Given the description of an element on the screen output the (x, y) to click on. 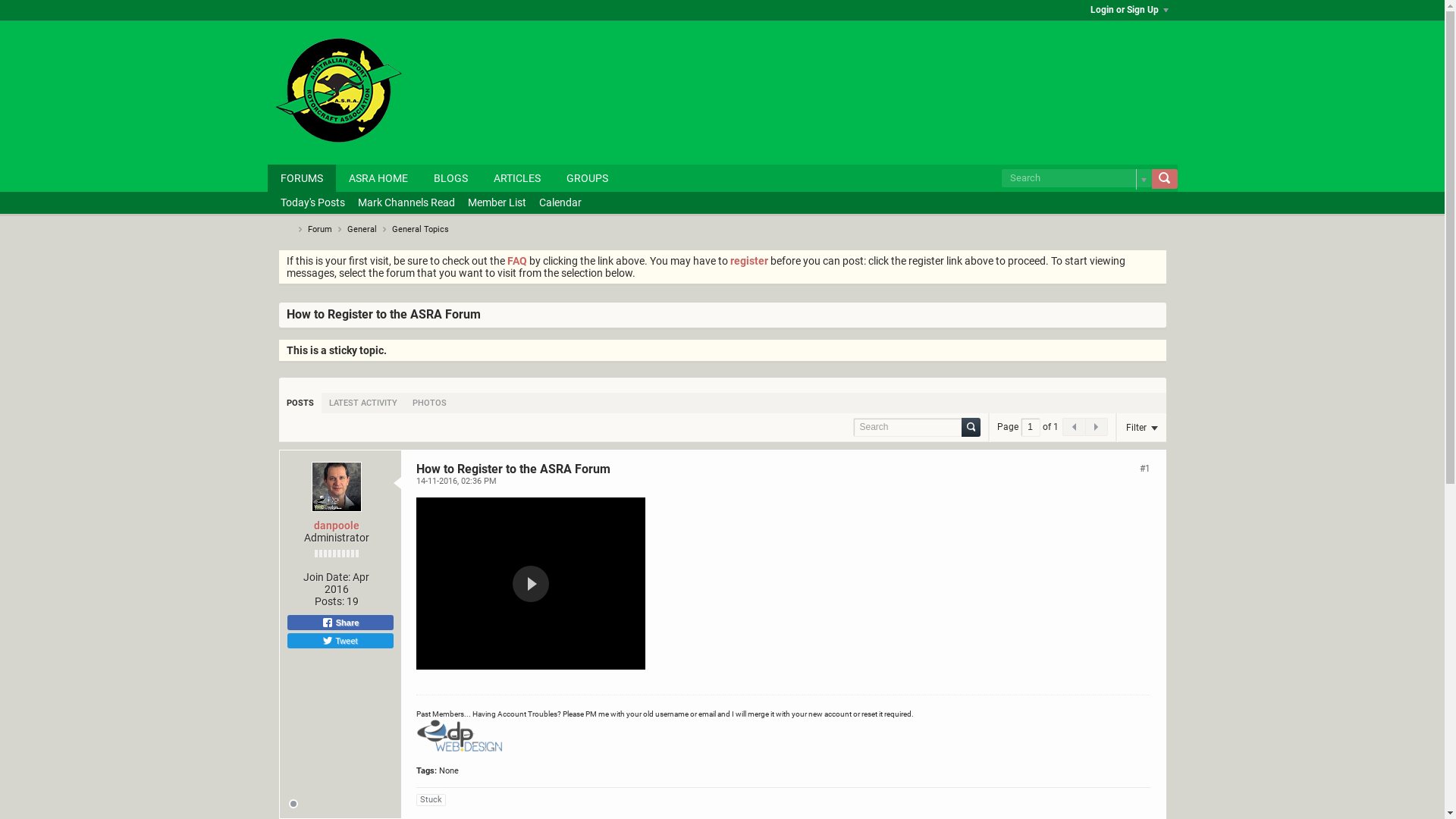
LATEST ACTIVITY Element type: text (362, 402)
PHOTOS Element type: text (429, 402)
register Element type: text (748, 260)
Search Element type: text (970, 426)
General Topics Element type: text (419, 229)
Next Page Element type: hover (1095, 426)
Member List Element type: text (496, 202)
Previous Page Element type: hover (1074, 426)
Search Element type: hover (1163, 178)
GROUPS Element type: text (587, 177)
Powered by vBulletin Element type: hover (337, 89)
General Element type: text (361, 229)
FAQ Element type: text (516, 260)
Calendar Element type: text (559, 202)
FORUMS Element type: text (300, 177)
BLOGS Element type: text (450, 177)
Forum Element type: text (319, 229)
danpoole Element type: text (336, 525)
danpoole Element type: hover (336, 486)
Today's Posts Element type: text (312, 202)
Home Element type: hover (286, 228)
danpoole is offline Element type: hover (292, 804)
#1 Element type: text (1144, 468)
Mark Channels Read Element type: text (406, 202)
POSTS Element type: text (300, 402)
Share Element type: text (339, 622)
ASRA HOME Element type: text (377, 177)
Tweet Element type: text (339, 640)
ARTICLES Element type: text (516, 177)
has disabled reputation Element type: hover (335, 553)
